Given the description of an element on the screen output the (x, y) to click on. 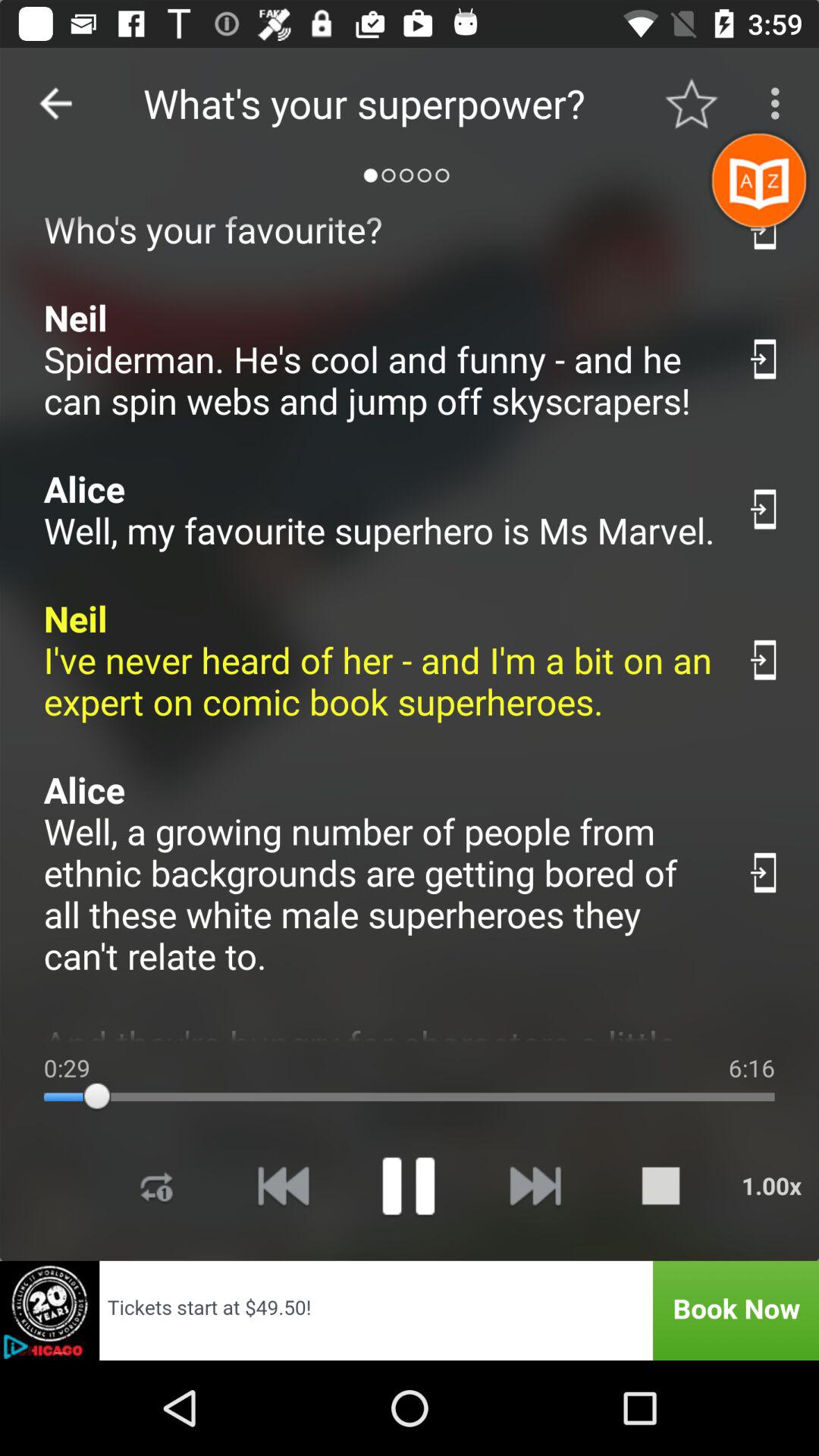
stop playing (660, 1185)
